Given the description of an element on the screen output the (x, y) to click on. 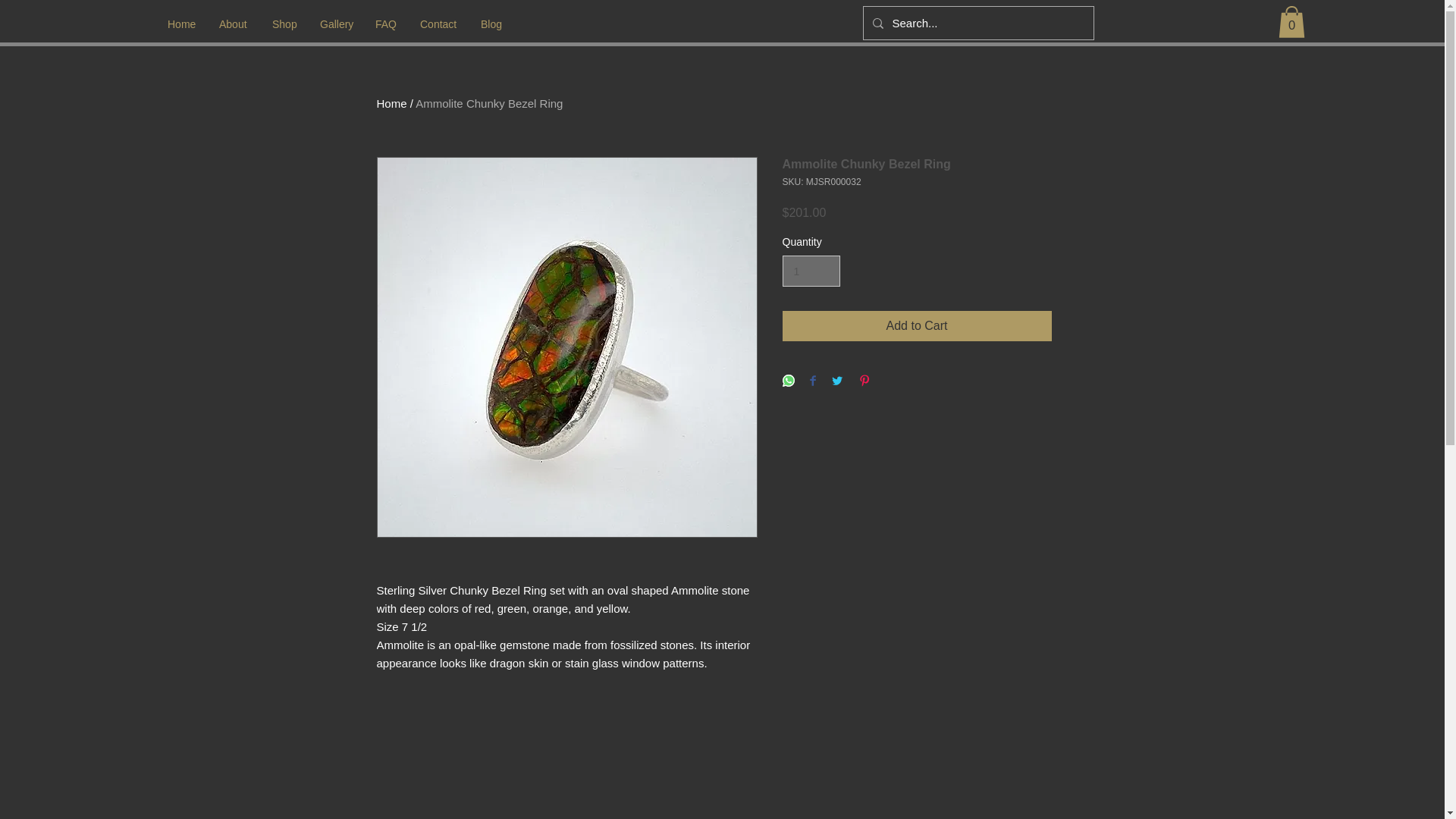
Home (390, 103)
Home (181, 24)
Contact (438, 24)
1 (811, 270)
Add to Cart (917, 326)
About (234, 24)
Blog (490, 24)
Gallery (336, 24)
Shop (284, 24)
FAQ (386, 24)
